Given the description of an element on the screen output the (x, y) to click on. 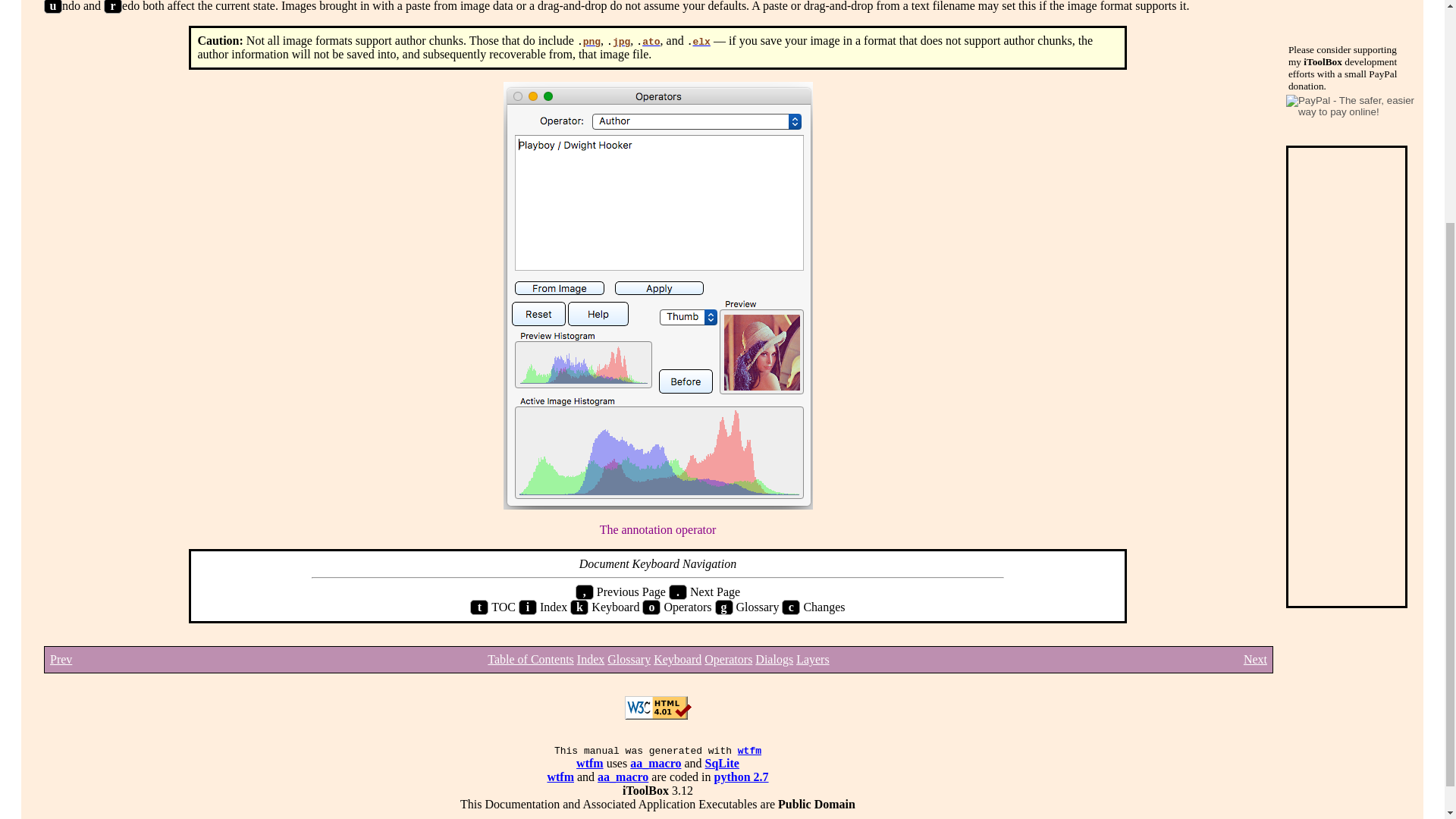
wtfm (749, 750)
Index (590, 658)
elx (701, 41)
Keyboard (677, 658)
png (591, 41)
Table of Contents (530, 658)
Glossary (628, 658)
Layers (812, 658)
python 2.7 (741, 776)
Operators (728, 658)
Next (1254, 658)
SqLite (721, 762)
wtfm (590, 762)
Dialogs (774, 658)
jpg (621, 41)
